Given the description of an element on the screen output the (x, y) to click on. 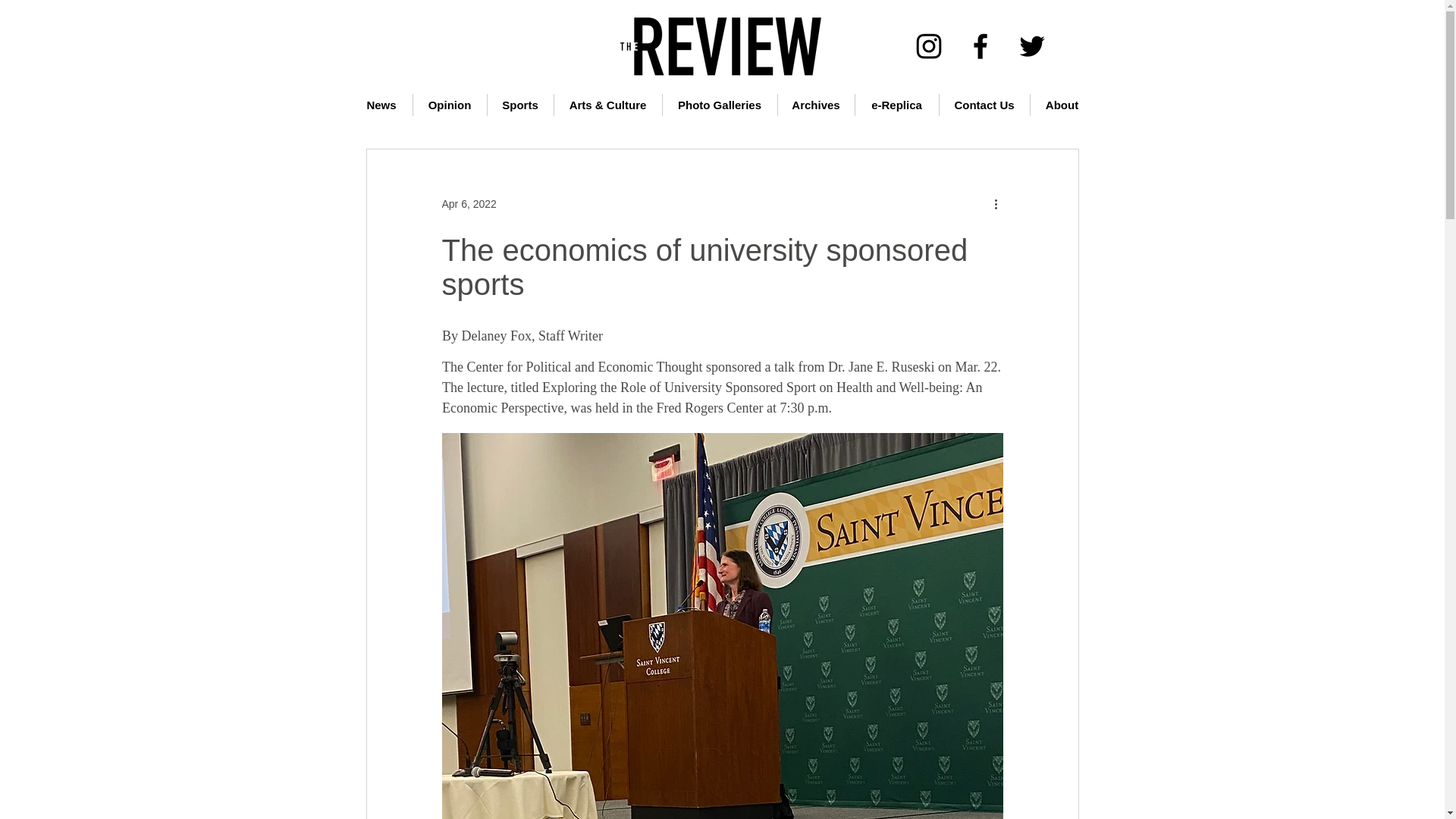
Opinion (449, 105)
News (381, 105)
Archives (815, 105)
Photo Galleries (719, 105)
About (1061, 105)
Contact Us (984, 105)
Apr 6, 2022 (468, 203)
e-Replica (897, 105)
Sports (519, 105)
